Given the description of an element on the screen output the (x, y) to click on. 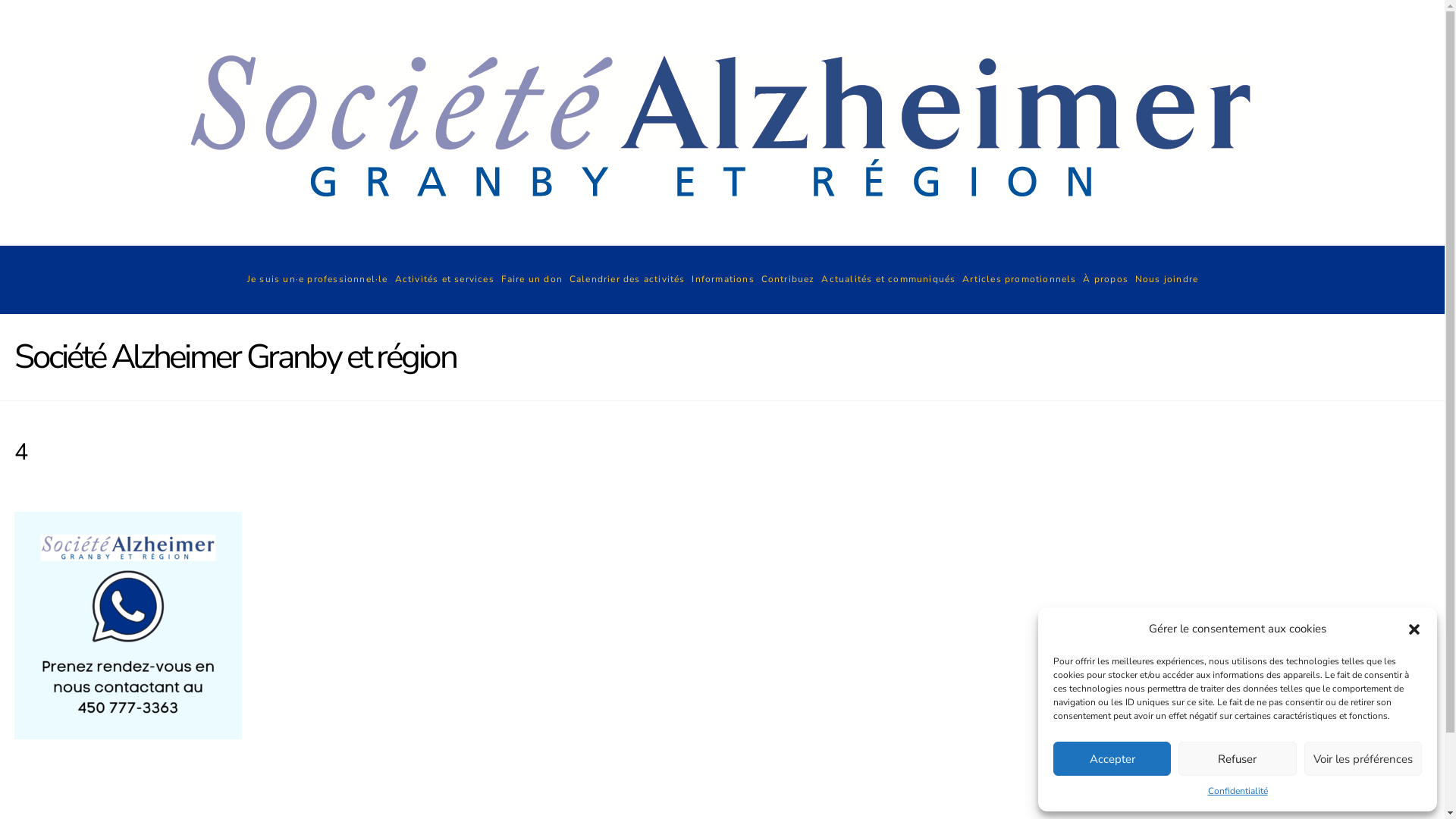
Faire un don Element type: text (531, 279)
Nous joindre Element type: text (1166, 279)
Articles promotionnels Element type: text (1018, 279)
Refuser Element type: text (1236, 758)
Accepter Element type: text (1111, 758)
Informations Element type: text (721, 279)
Contribuez Element type: text (787, 279)
